Given the description of an element on the screen output the (x, y) to click on. 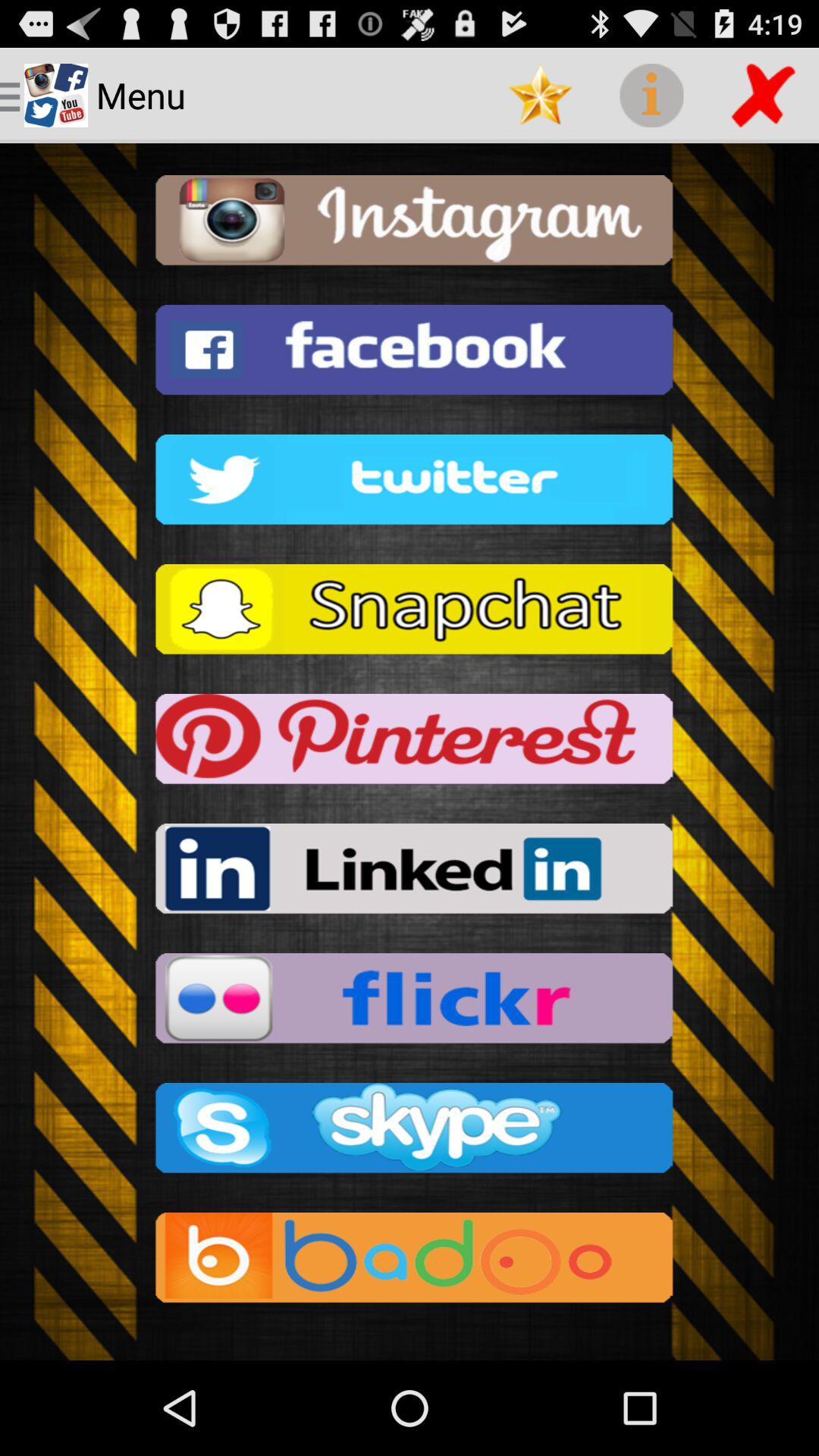
select to linked option (409, 873)
